Given the description of an element on the screen output the (x, y) to click on. 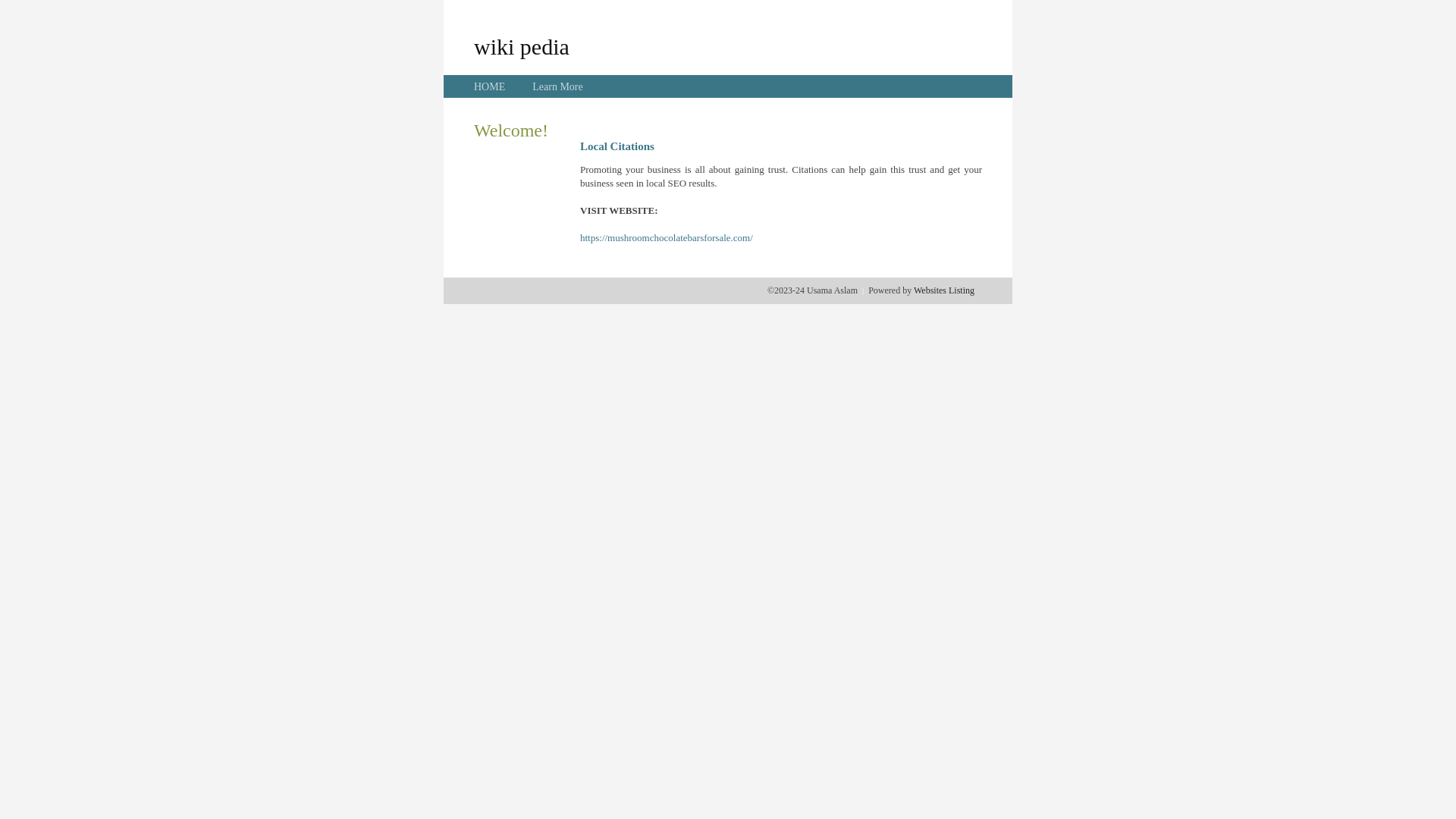
Websites Listing Element type: text (943, 290)
https://mushroomchocolatebarsforsale.com/ Element type: text (666, 237)
Learn More Element type: text (557, 86)
HOME Element type: text (489, 86)
wiki pedia Element type: text (521, 46)
